Given the description of an element on the screen output the (x, y) to click on. 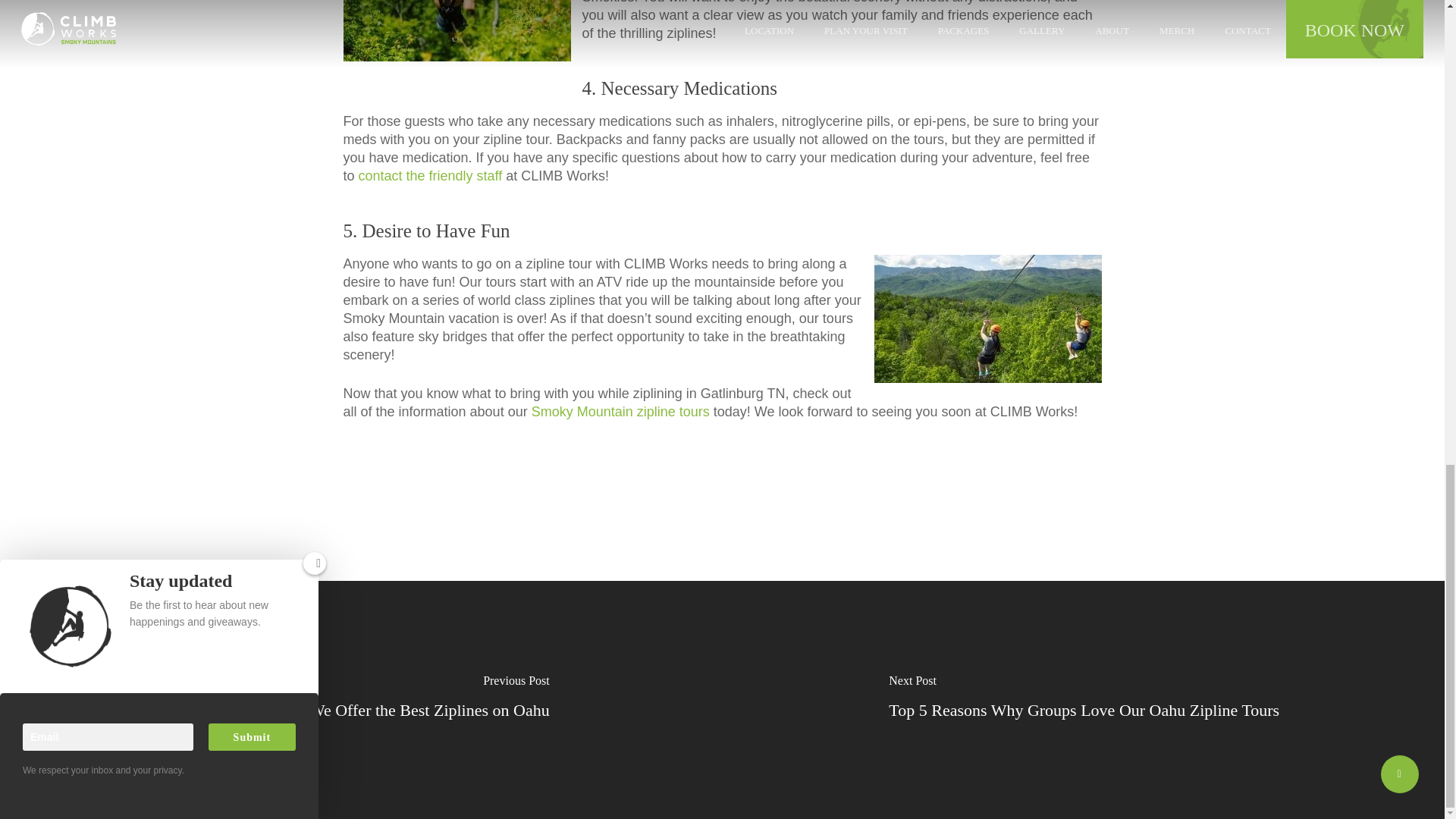
contact the friendly staff (430, 175)
Smoky Mountain zipline tours (620, 411)
